Given the description of an element on the screen output the (x, y) to click on. 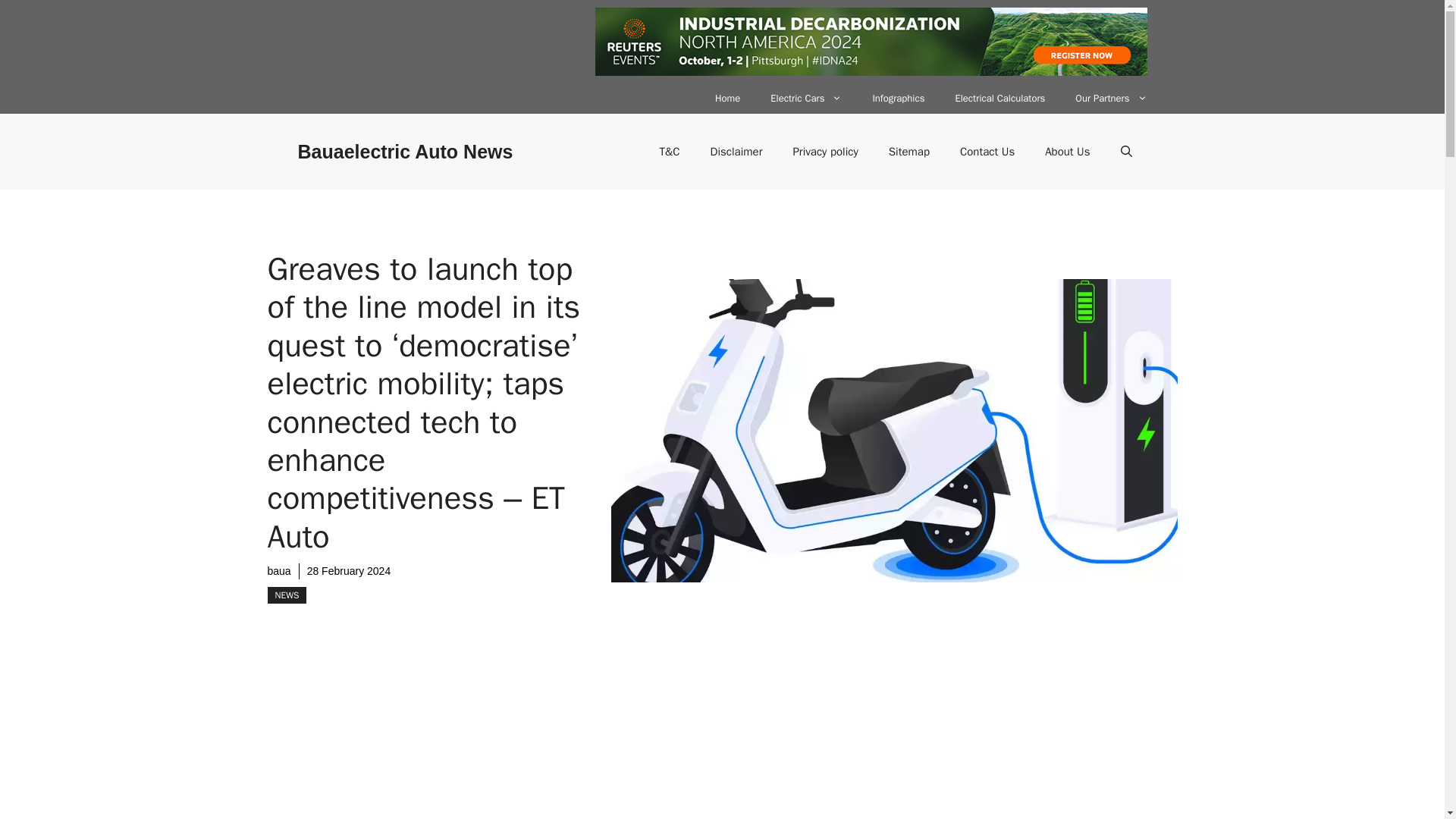
Privacy policy (824, 151)
Our Partners (1110, 98)
Infographics (898, 98)
Electrical Calculators (999, 98)
Electric Cars (806, 98)
Advertisement (600, 767)
Home (727, 98)
Disclaimer (736, 151)
Sitemap (908, 151)
Bauaelectric Auto News (404, 151)
